Given the description of an element on the screen output the (x, y) to click on. 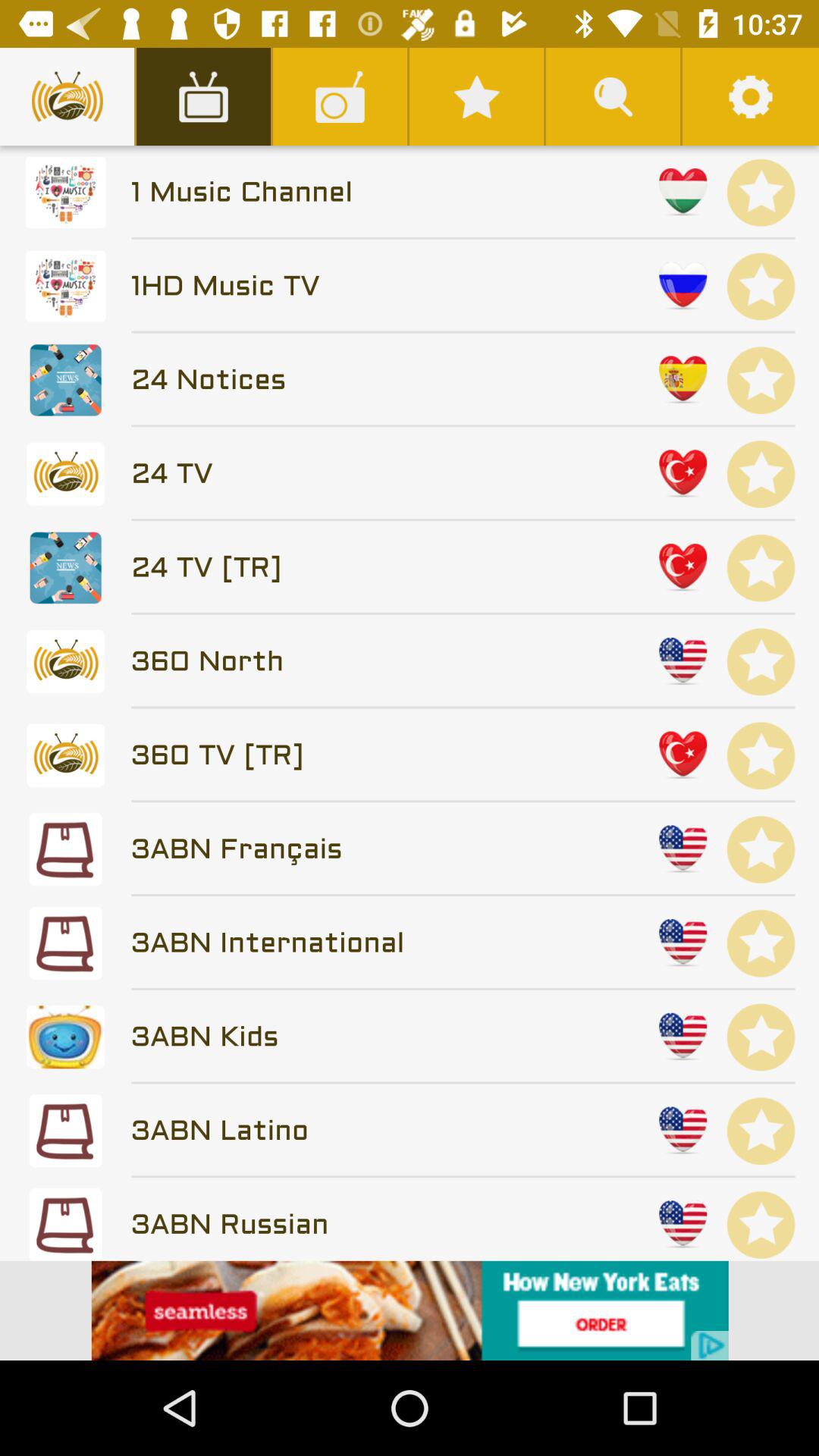
view advertisement (409, 1310)
